Given the description of an element on the screen output the (x, y) to click on. 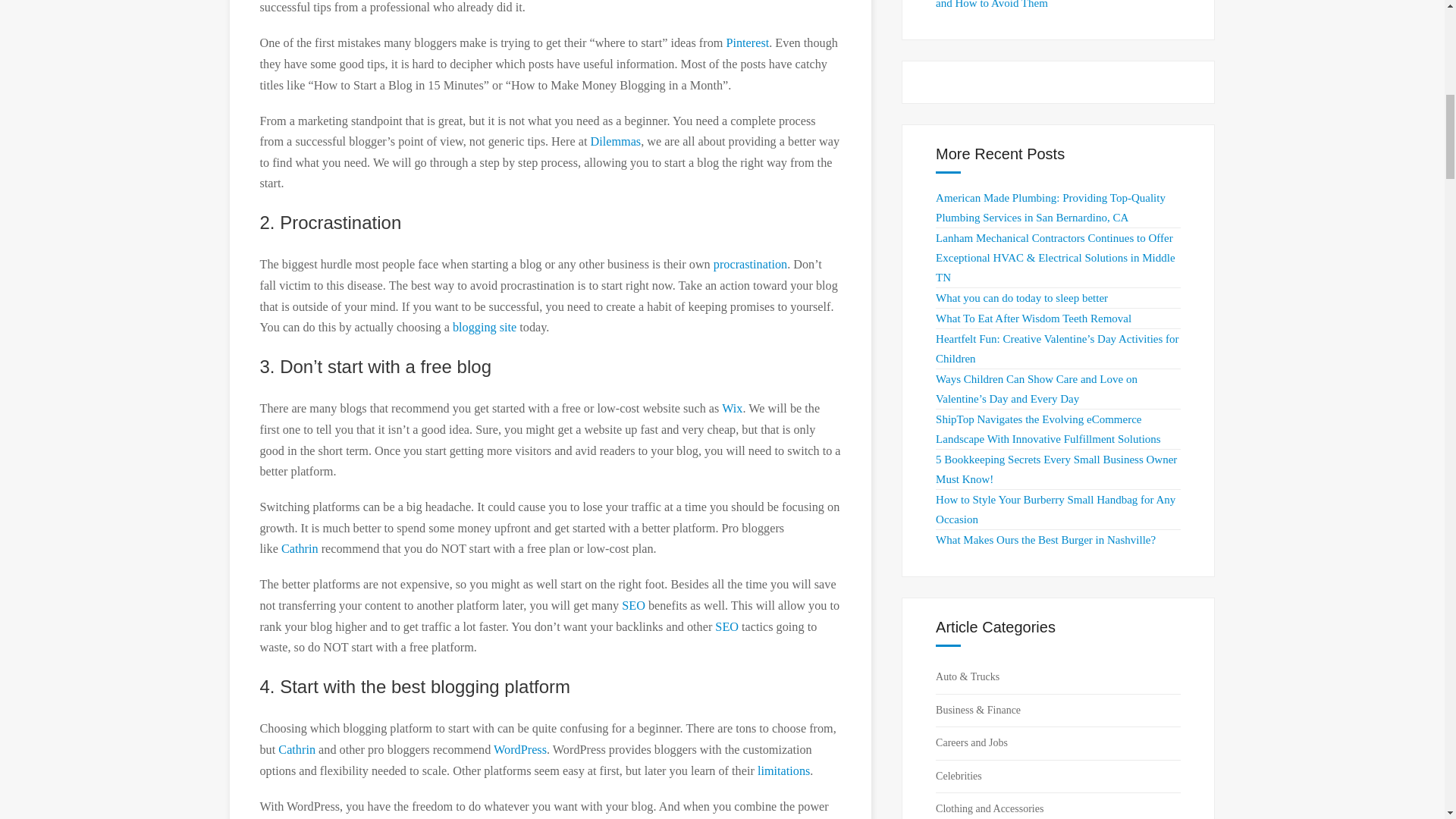
SEO (726, 626)
SEO (633, 605)
Dilemmas (614, 141)
blogging site (484, 327)
Cathrin  (298, 749)
procrastination (750, 264)
Wix (732, 408)
Cathrin  (301, 549)
WordPress (520, 749)
limitations (783, 771)
